Given the description of an element on the screen output the (x, y) to click on. 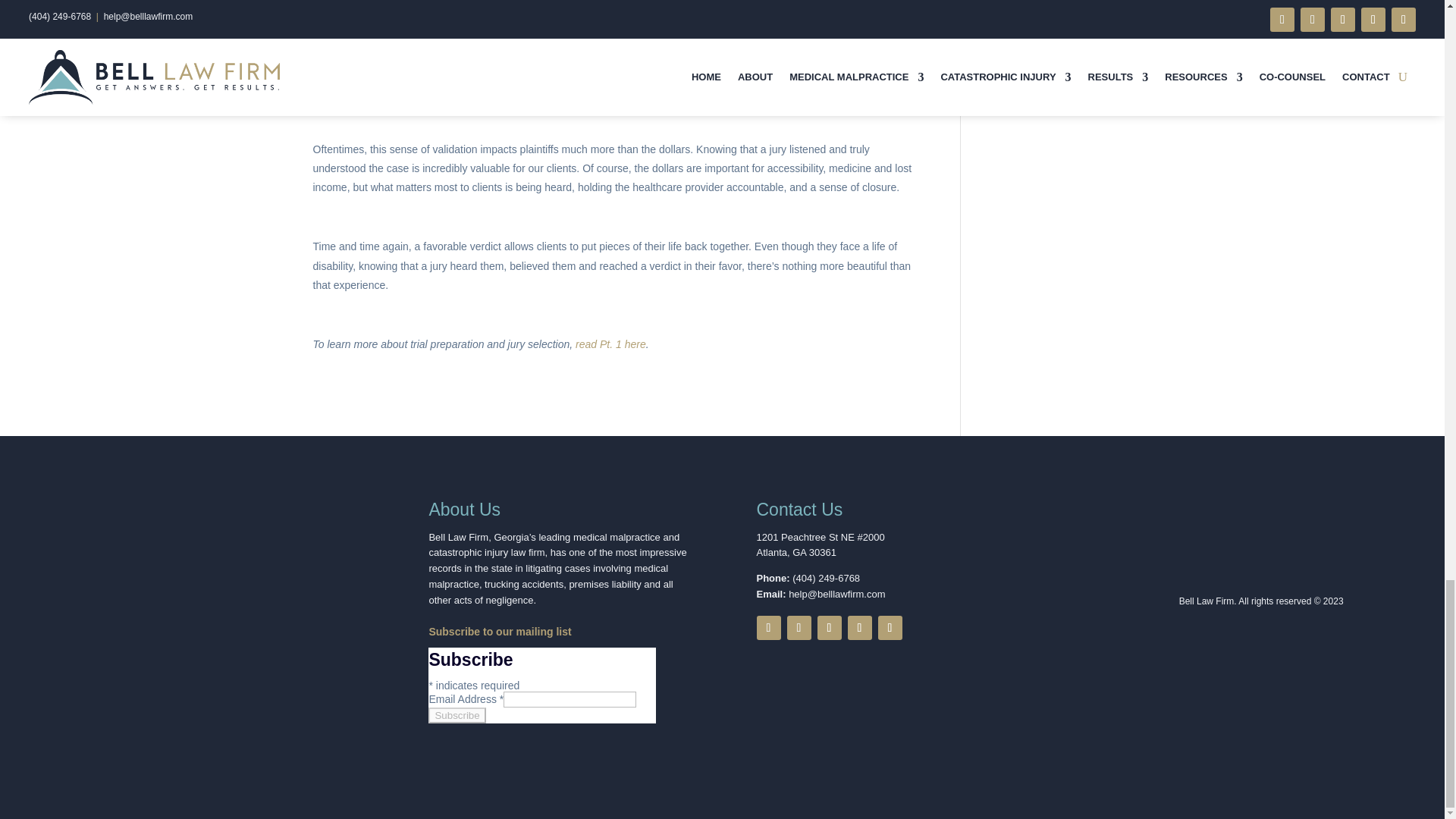
Follow on Instagram (889, 627)
Follow on Podcast (828, 627)
Subscribe (456, 715)
Follow on Twitter (798, 627)
Follow on Facebook (768, 627)
Follow on LinkedIn (859, 627)
